Given the description of an element on the screen output the (x, y) to click on. 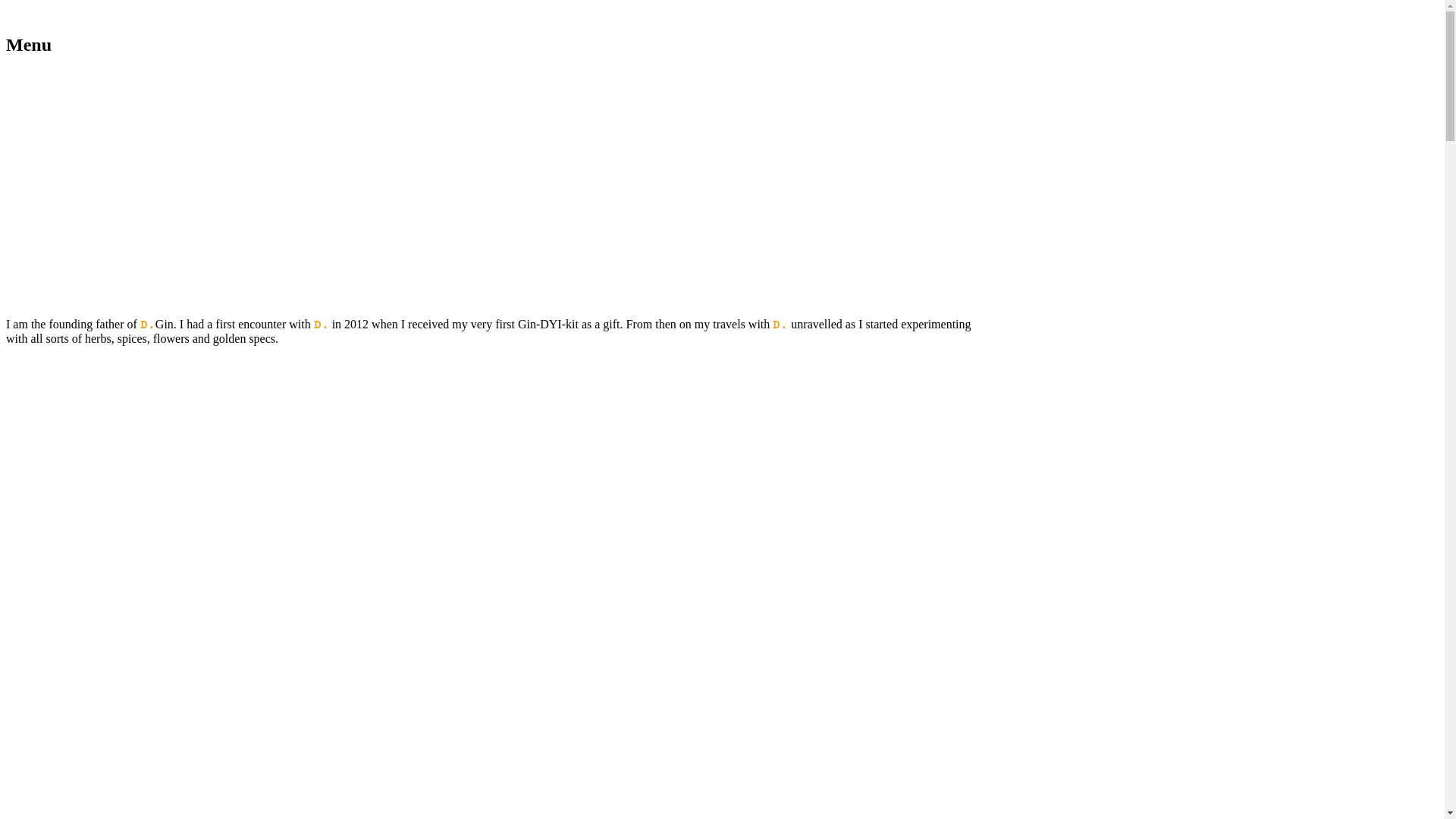
Skip to content Element type: text (42, 12)
